Given the description of an element on the screen output the (x, y) to click on. 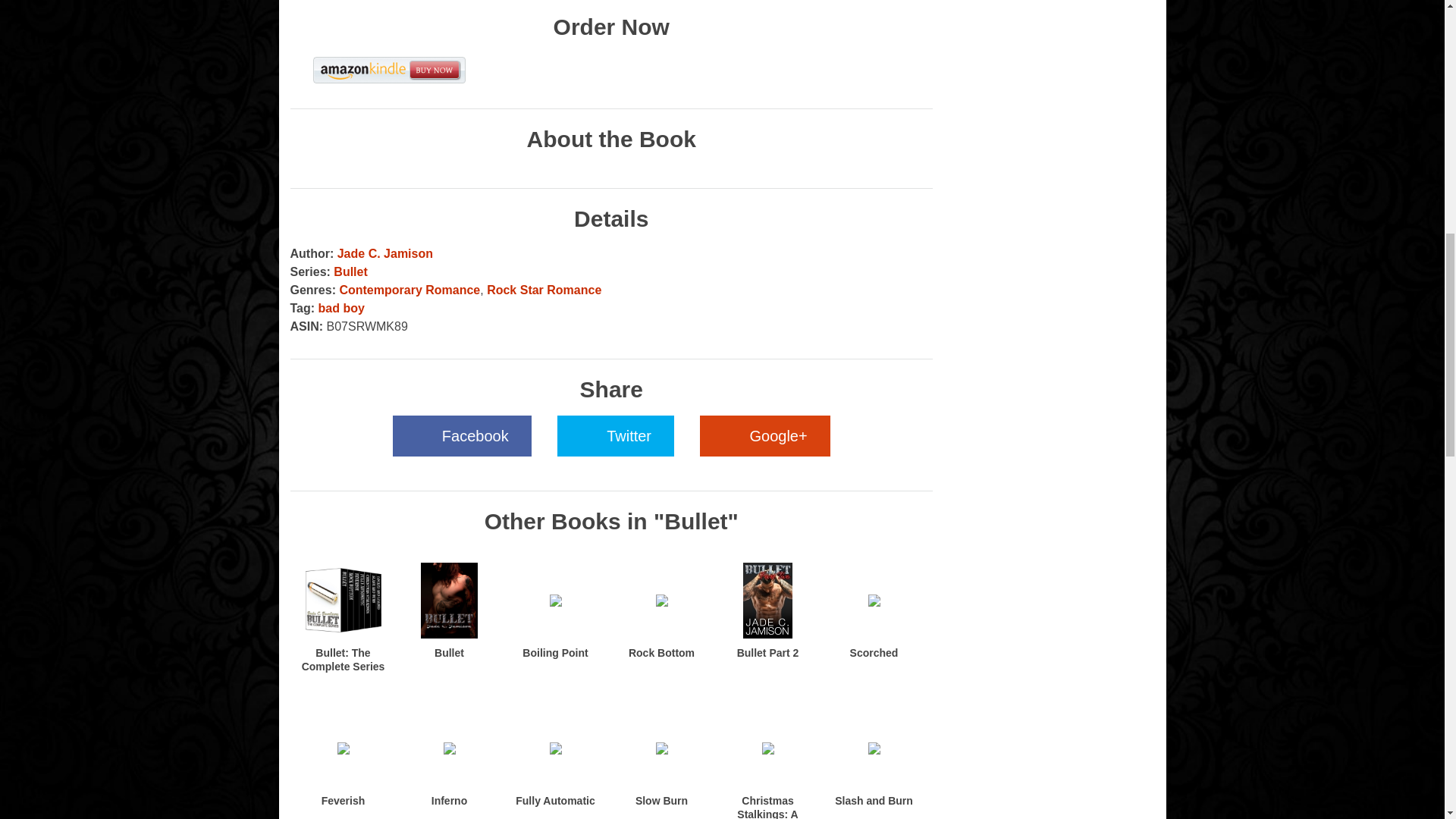
Bullet: The Complete Series (343, 659)
Facebook (462, 435)
bad boy (341, 308)
Bullet (448, 653)
Contemporary Romance (409, 289)
Bullet (349, 271)
Rock Star Romance (543, 289)
Twitter (615, 435)
Jade C. Jamison (384, 253)
